Given the description of an element on the screen output the (x, y) to click on. 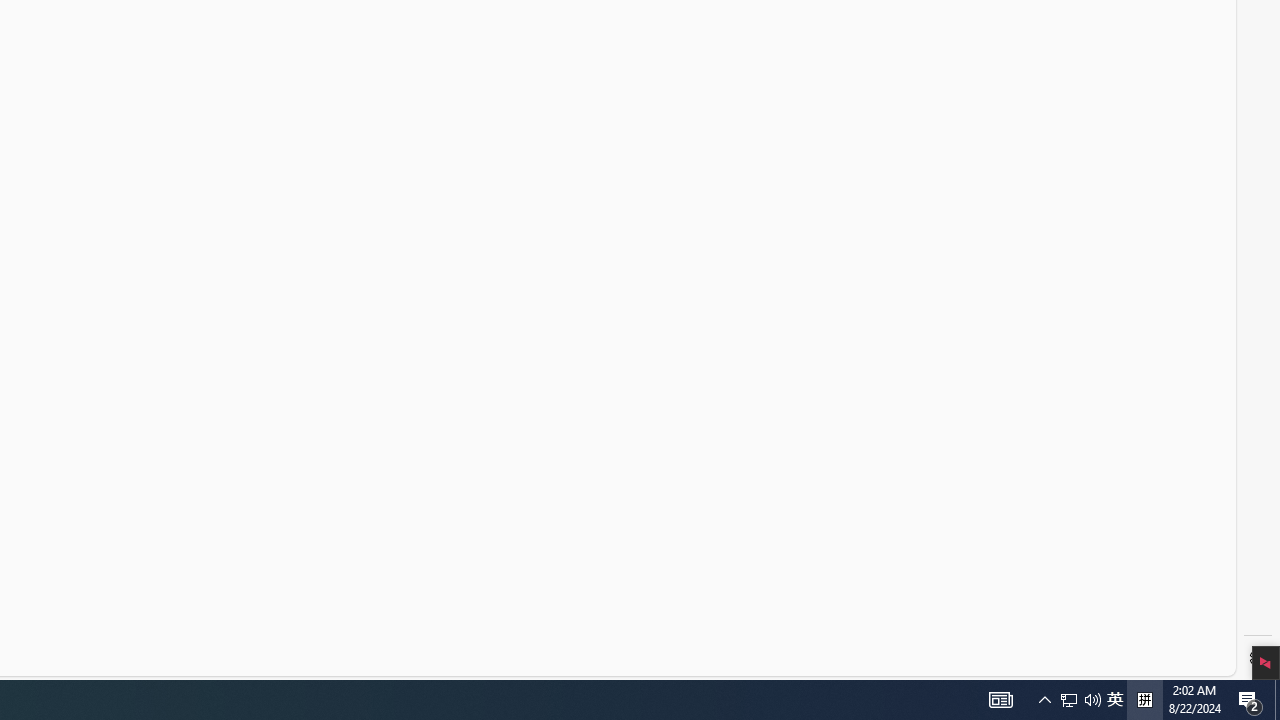
Action Center, 2 new notifications (1250, 699)
Tray Input Indicator - Chinese (Simplified, China) (1115, 699)
Q2790: 100% (1069, 699)
AutomationID: 4105 (1144, 699)
Show desktop (1092, 699)
Notification Chevron (1000, 699)
User Promoted Notification Area (1277, 699)
